Given the description of an element on the screen output the (x, y) to click on. 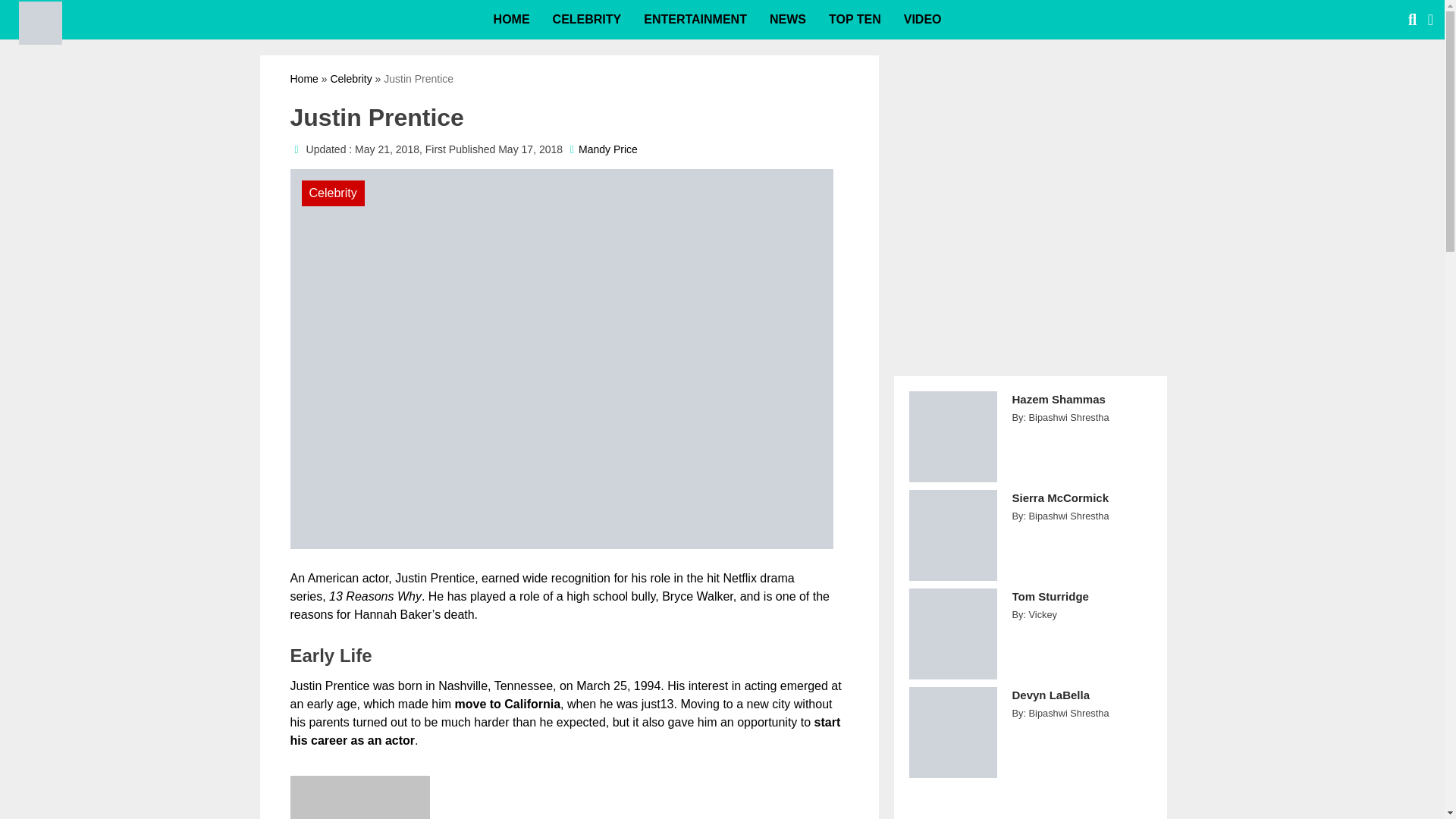
CELEBRITY (587, 19)
Celebrity (350, 78)
Mandy Price (607, 149)
VIDEO (922, 19)
TOP TEN (854, 19)
ENTERTAINMENT (694, 19)
Mandy Price (607, 149)
NEWS (787, 19)
Home (303, 78)
